Given the description of an element on the screen output the (x, y) to click on. 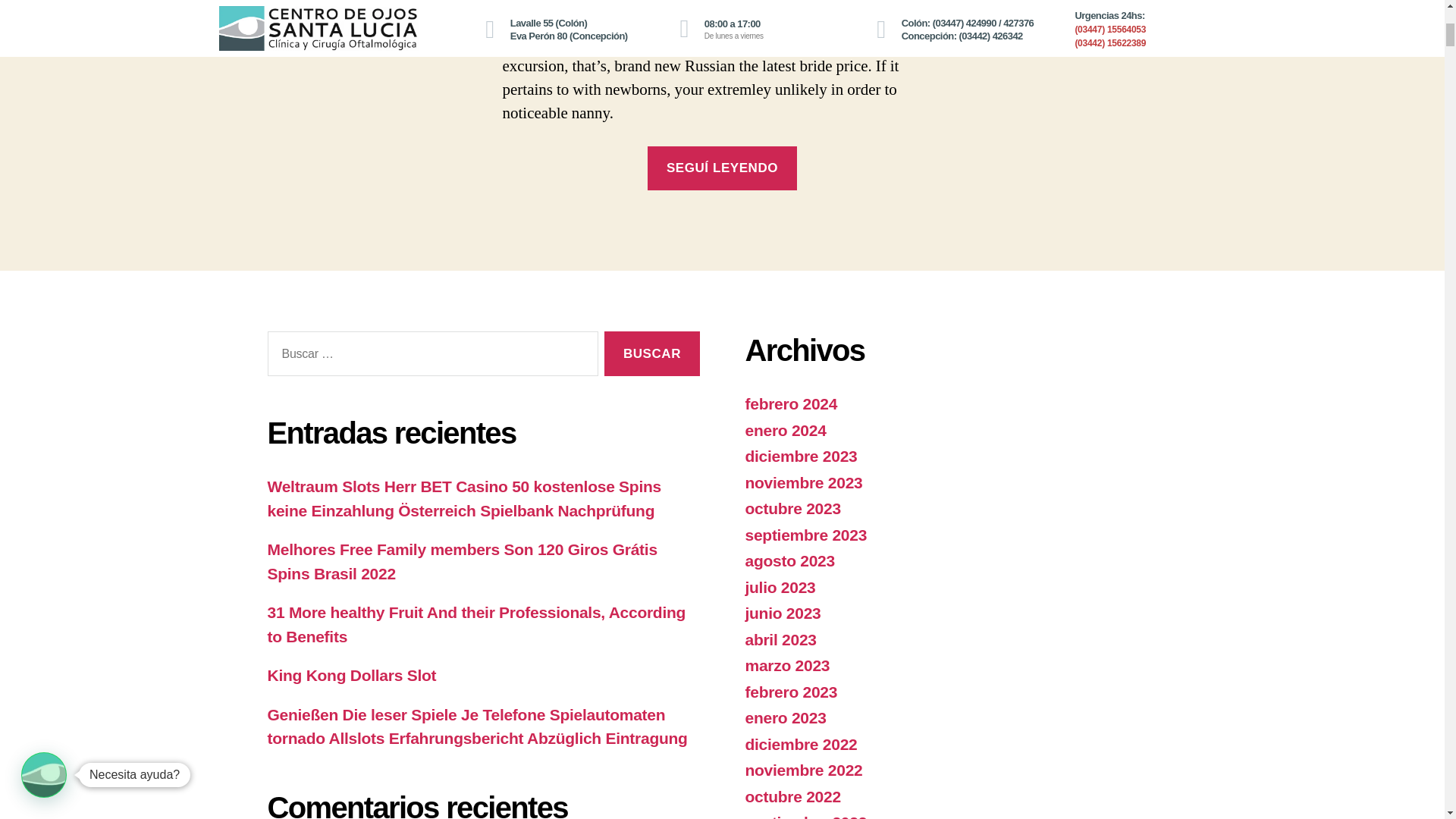
Buscar (651, 353)
Buscar (651, 353)
